Given the description of an element on the screen output the (x, y) to click on. 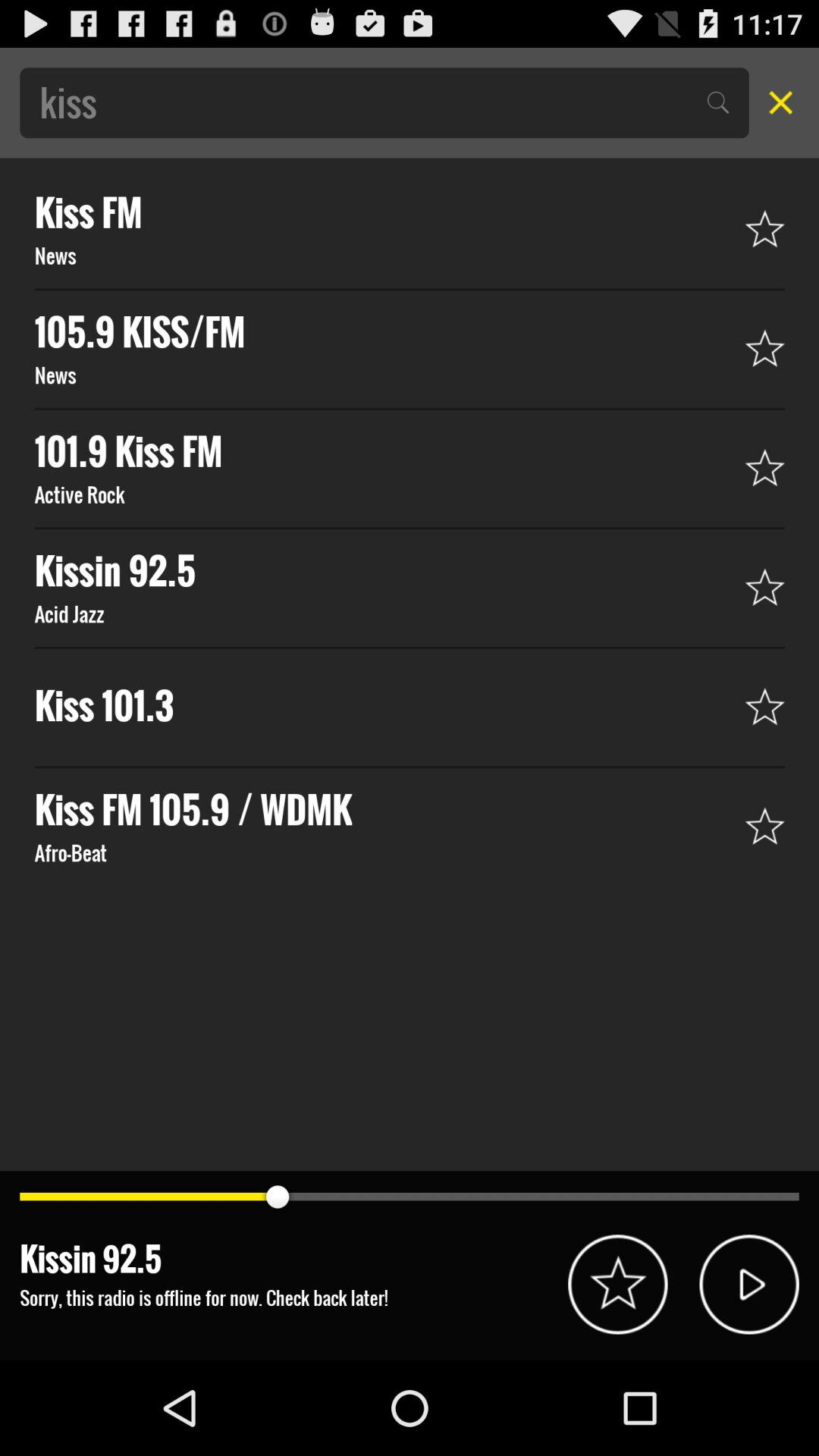
play button (749, 1284)
